Given the description of an element on the screen output the (x, y) to click on. 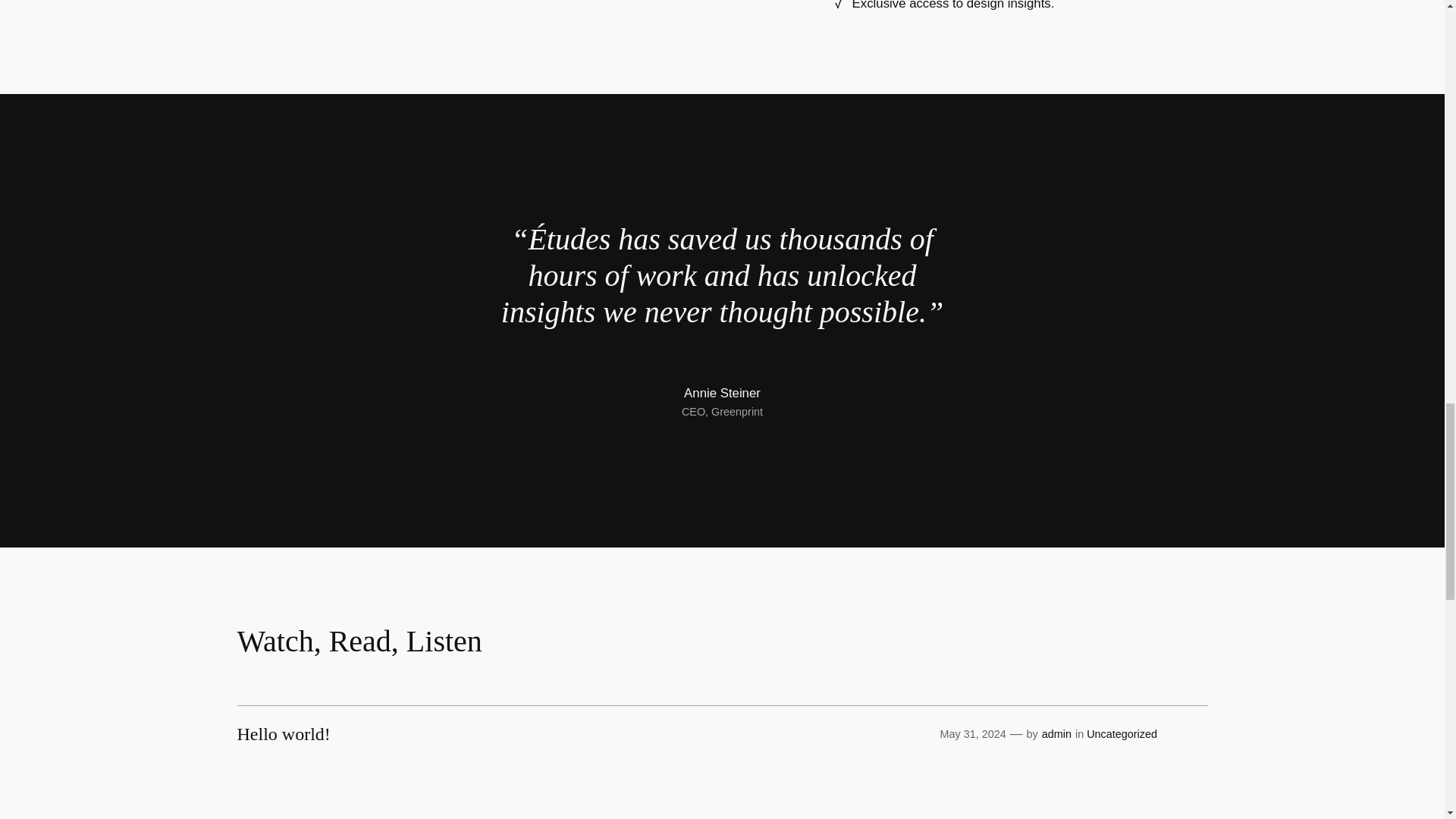
May 31, 2024 (972, 734)
Hello world! (282, 733)
Uncategorized (1121, 734)
admin (1056, 734)
